Given the description of an element on the screen output the (x, y) to click on. 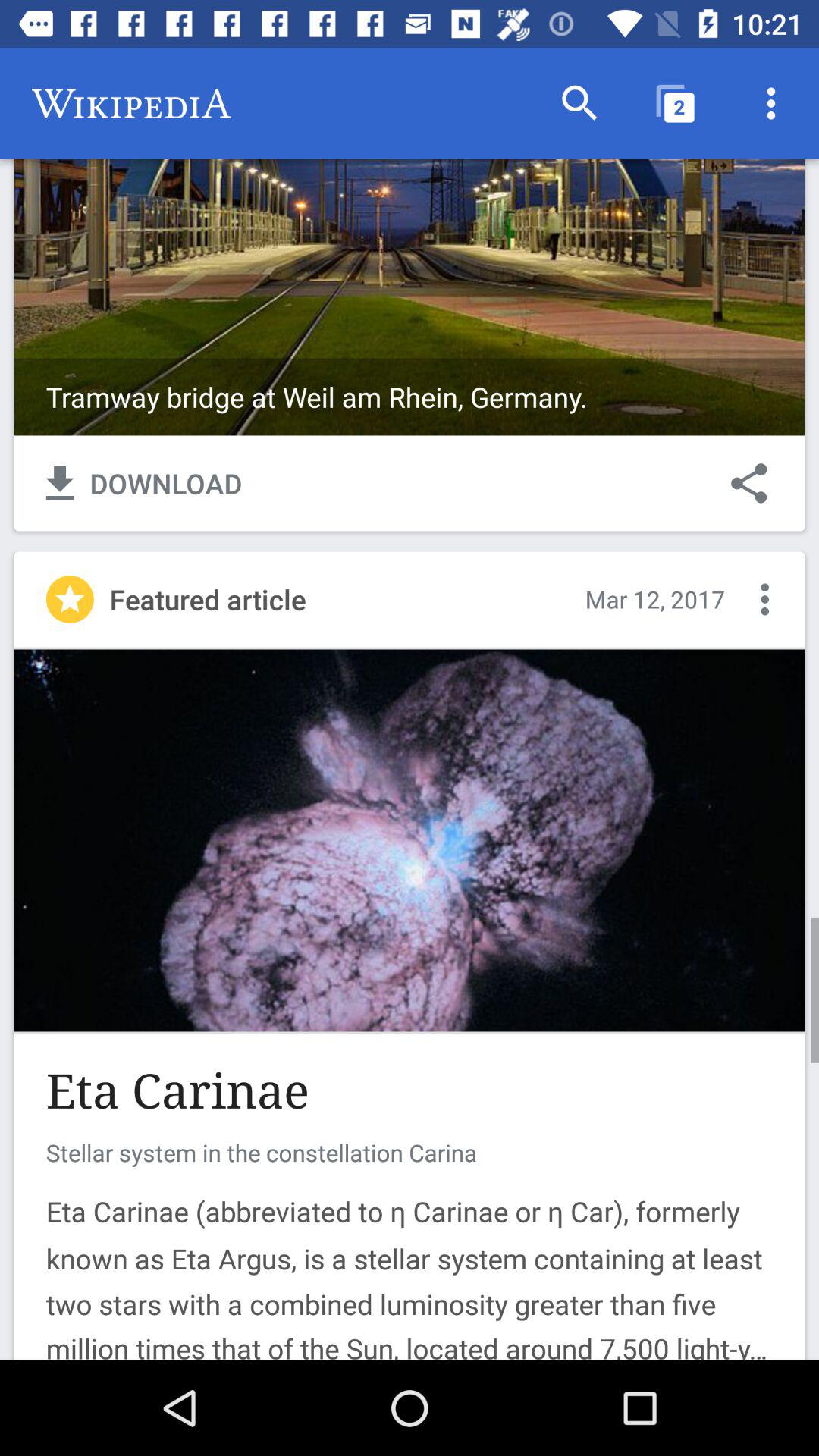
cover page background (409, 241)
